Given the description of an element on the screen output the (x, y) to click on. 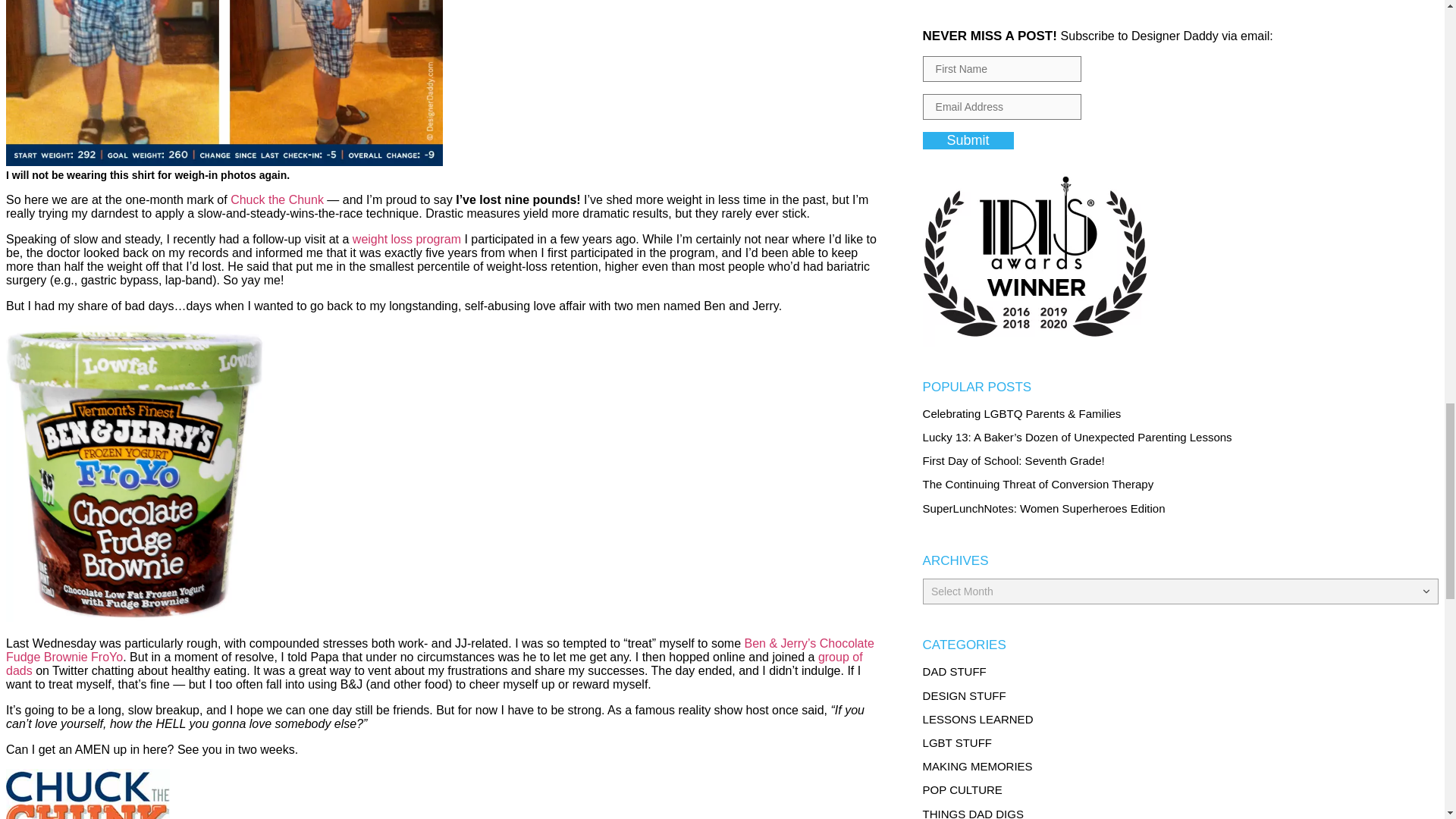
Submit (968, 140)
group of dads (434, 663)
weight loss program (406, 238)
Chuck the Chunk (276, 199)
